Given the description of an element on the screen output the (x, y) to click on. 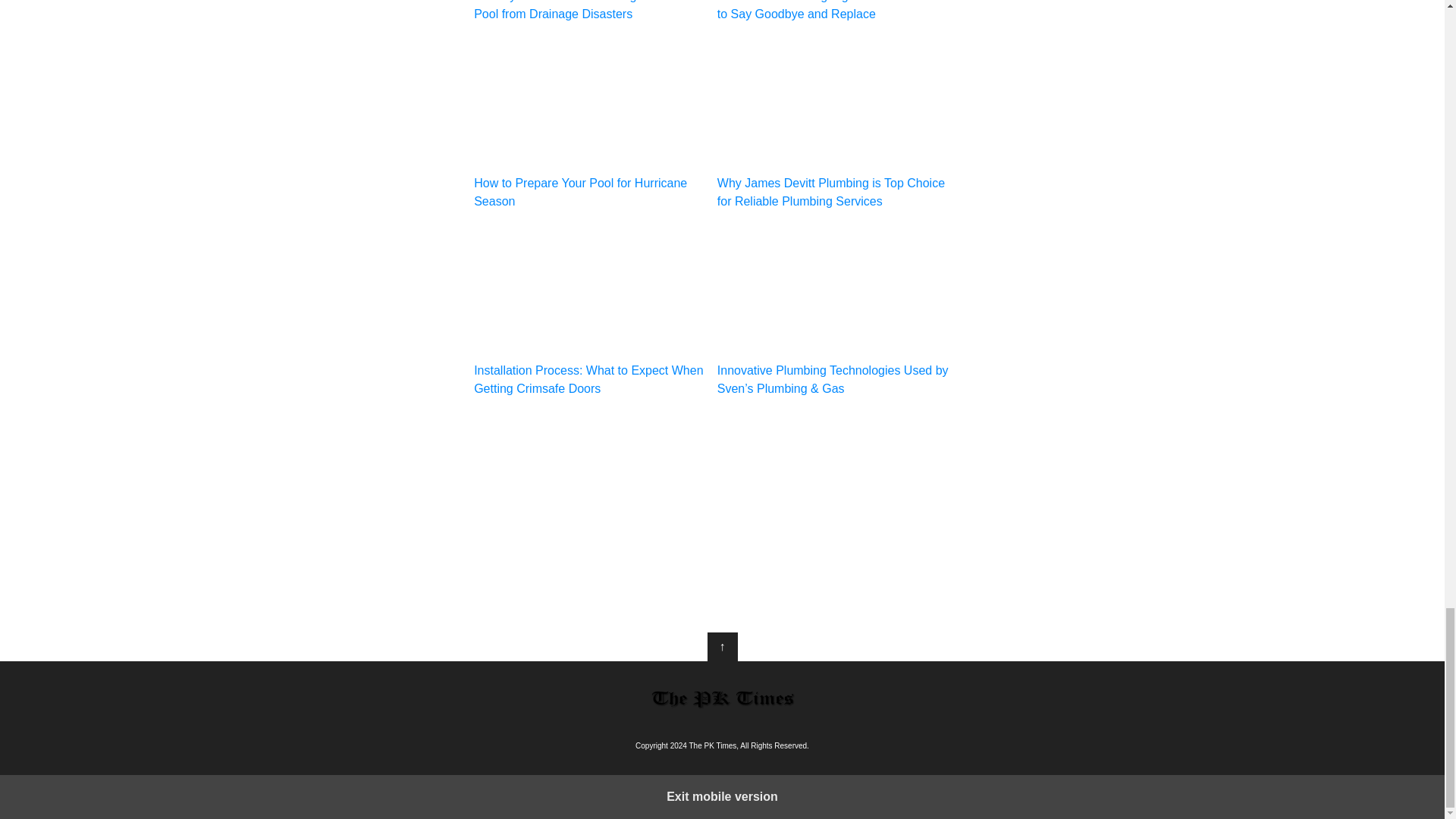
The PK Times (721, 698)
How to Prepare Your Pool for Hurricane Season (590, 123)
